Given the description of an element on the screen output the (x, y) to click on. 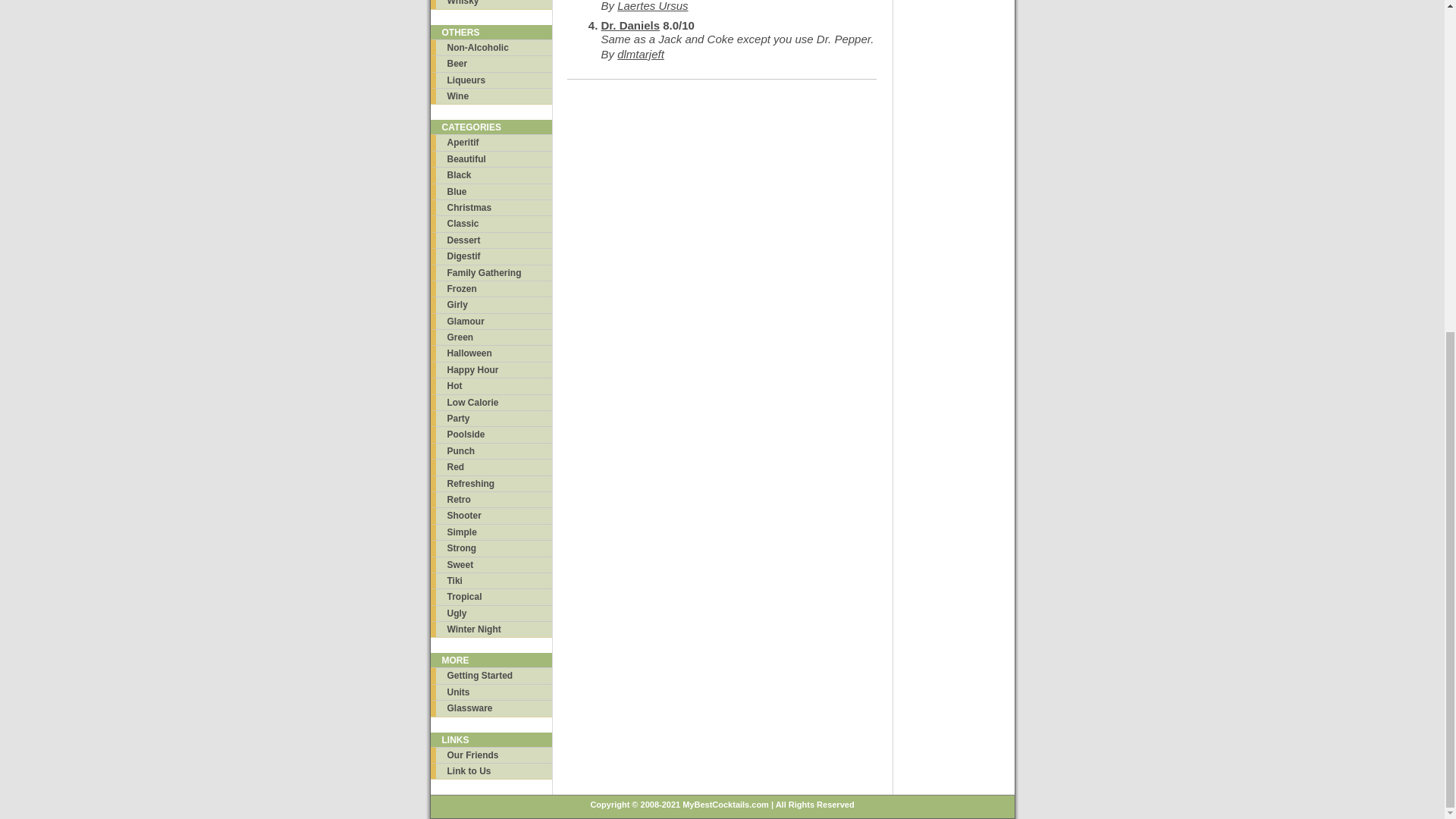
Beautiful (490, 158)
Liqueurs (490, 79)
Beer (490, 63)
Whisky (490, 4)
Aperitif (490, 141)
Black (490, 174)
Blue (490, 191)
Non-Alcoholic (490, 47)
Christmas (490, 207)
Wine (490, 95)
